Given the description of an element on the screen output the (x, y) to click on. 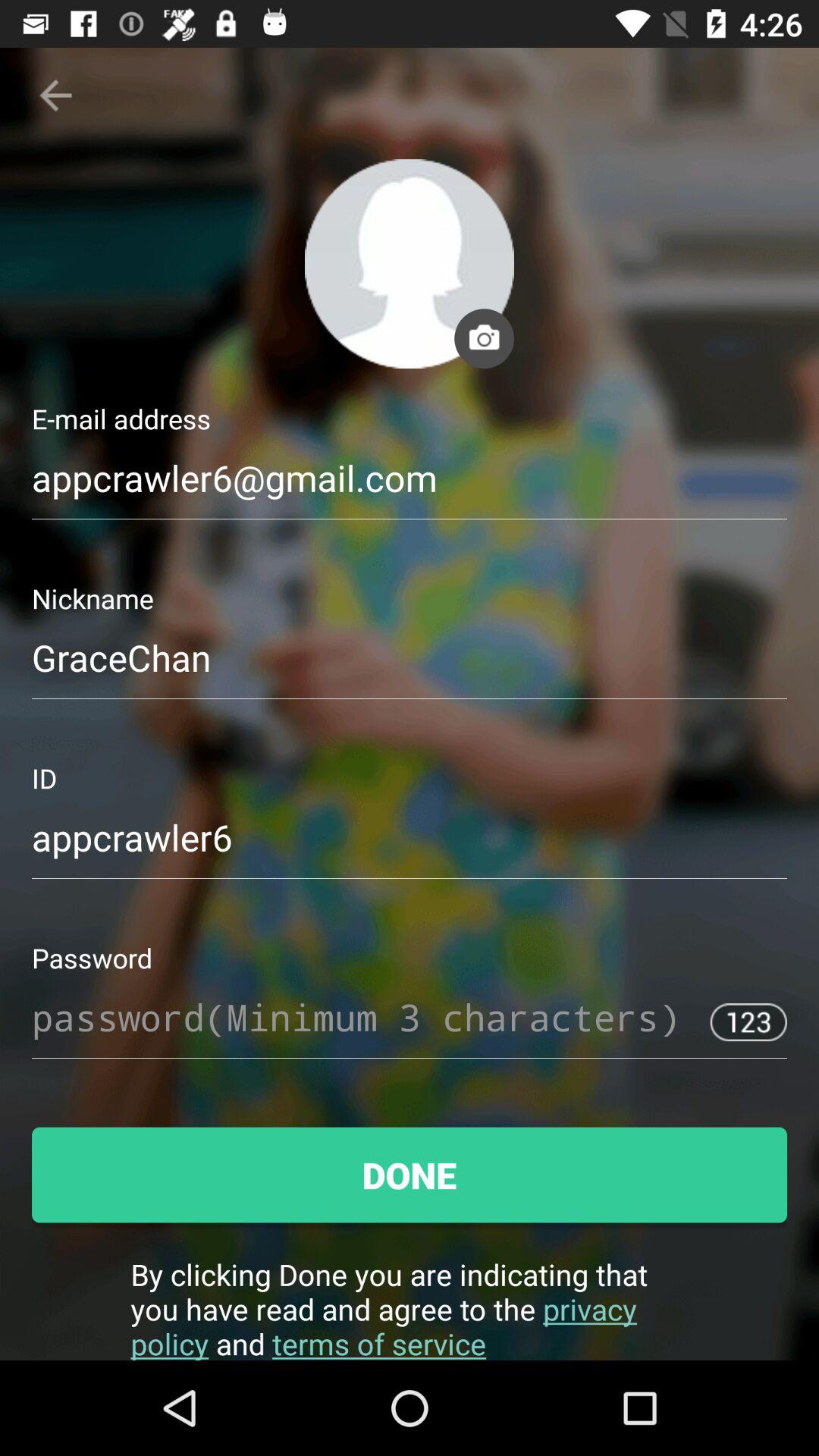
click on 123 button (748, 1022)
click on the green color button (409, 1174)
click on the profile icon of the page (409, 263)
select the text below the text id on the web page (409, 845)
